Given the description of an element on the screen output the (x, y) to click on. 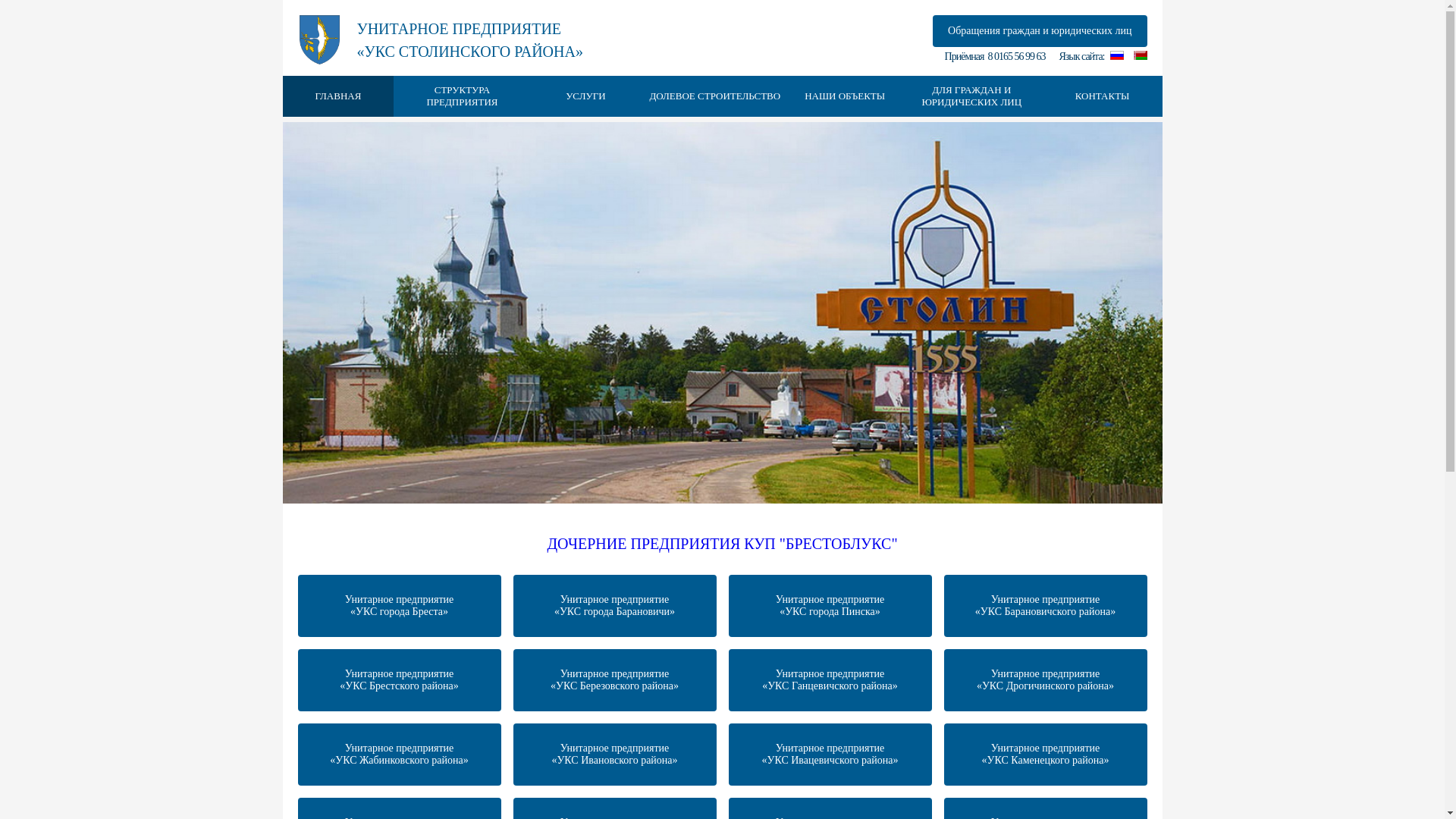
Belarusian (be-BY) Element type: hover (1139, 54)
